Given the description of an element on the screen output the (x, y) to click on. 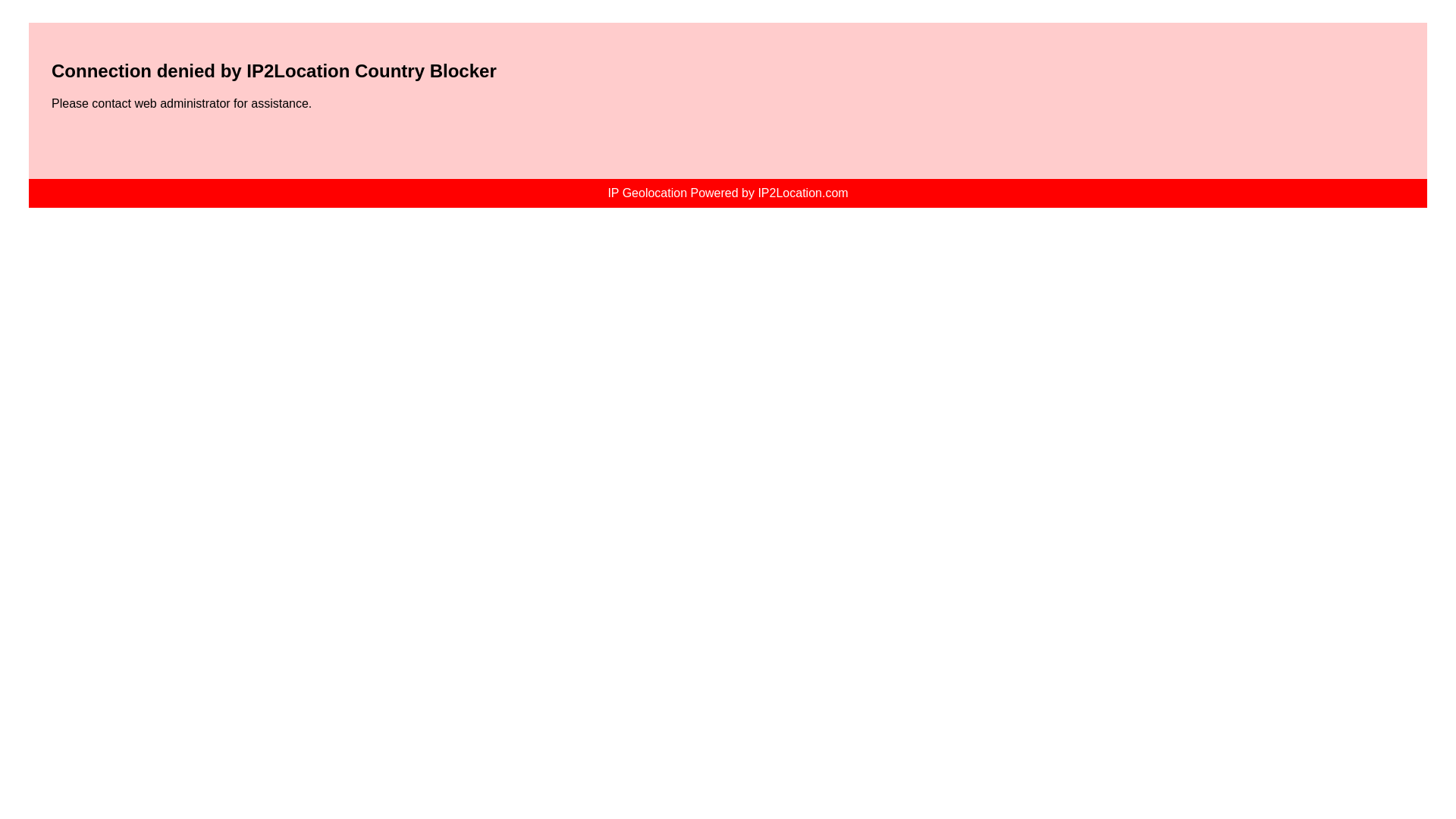
IP Geolocation Powered by IP2Location.com (727, 192)
